Given the description of an element on the screen output the (x, y) to click on. 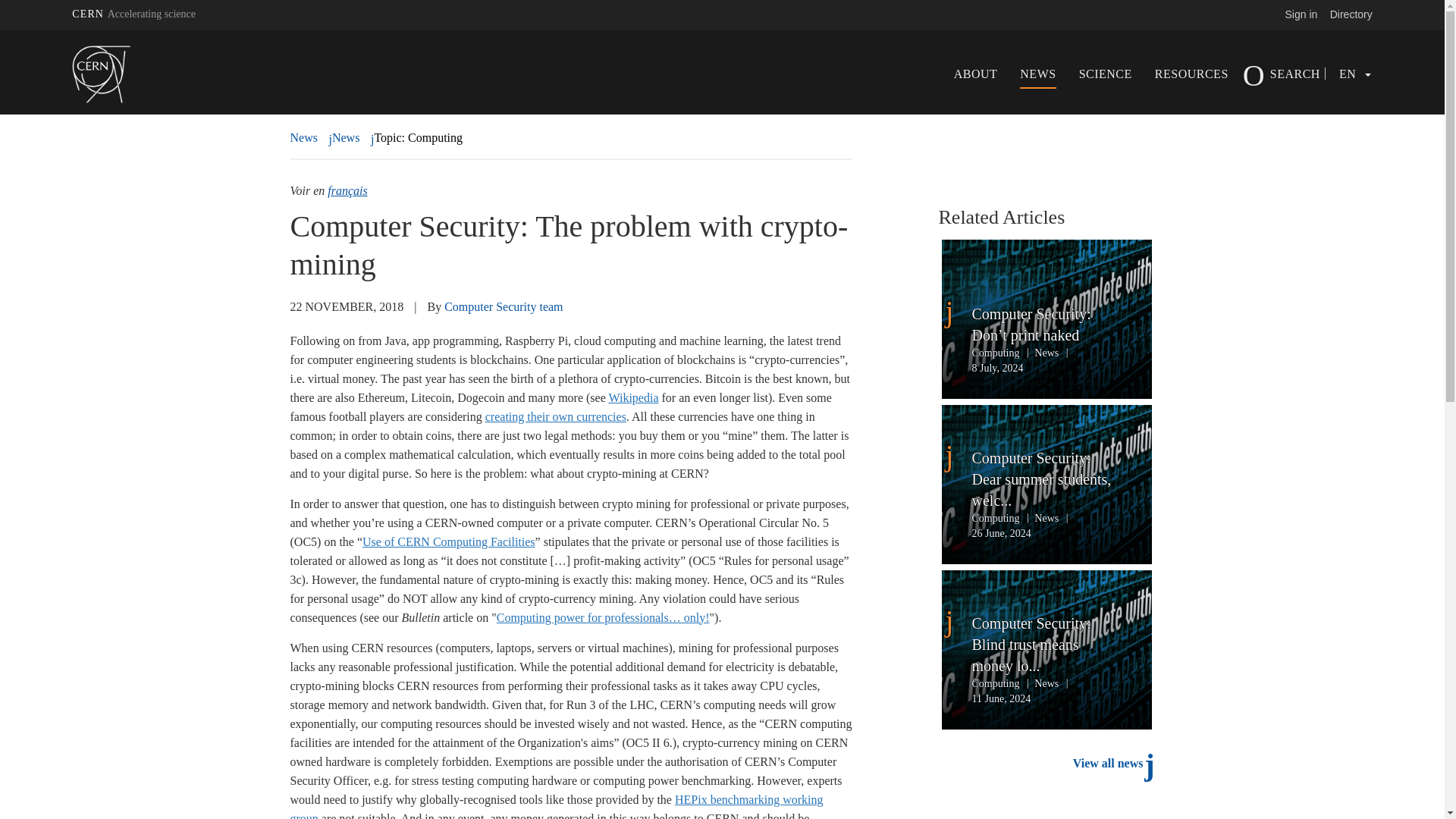
Search CERN resources and browse the directory (1350, 14)
CERN Accelerating science (133, 14)
Computer Security: Dear summer students, welcome! (1046, 479)
Sign in (1301, 14)
Directory (1350, 14)
Home (122, 74)
CERN (133, 14)
Computer Security: Blind trust means money lost (1046, 644)
